Given the description of an element on the screen output the (x, y) to click on. 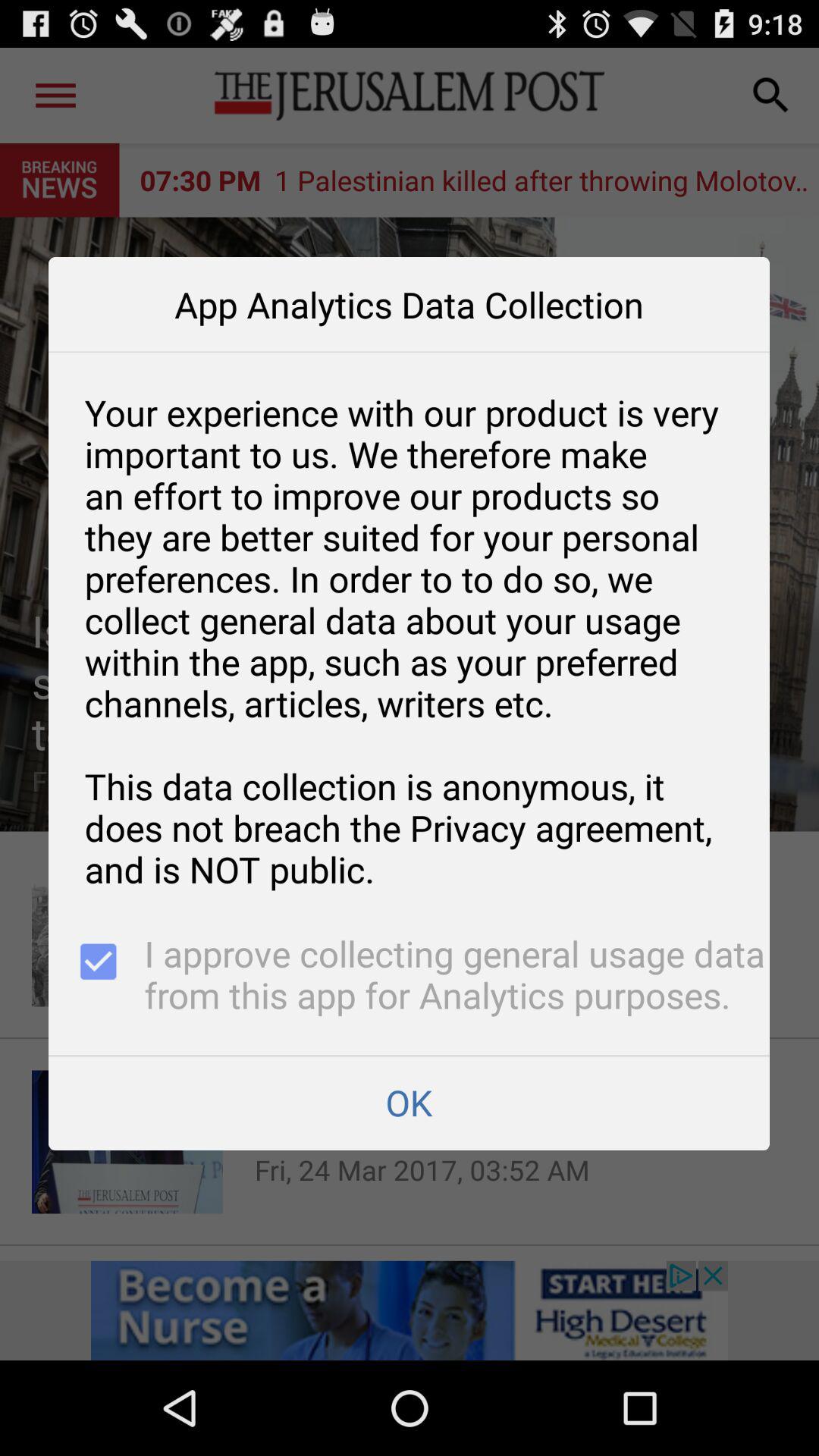
select the checkbox at the bottom left corner (96, 976)
